Given the description of an element on the screen output the (x, y) to click on. 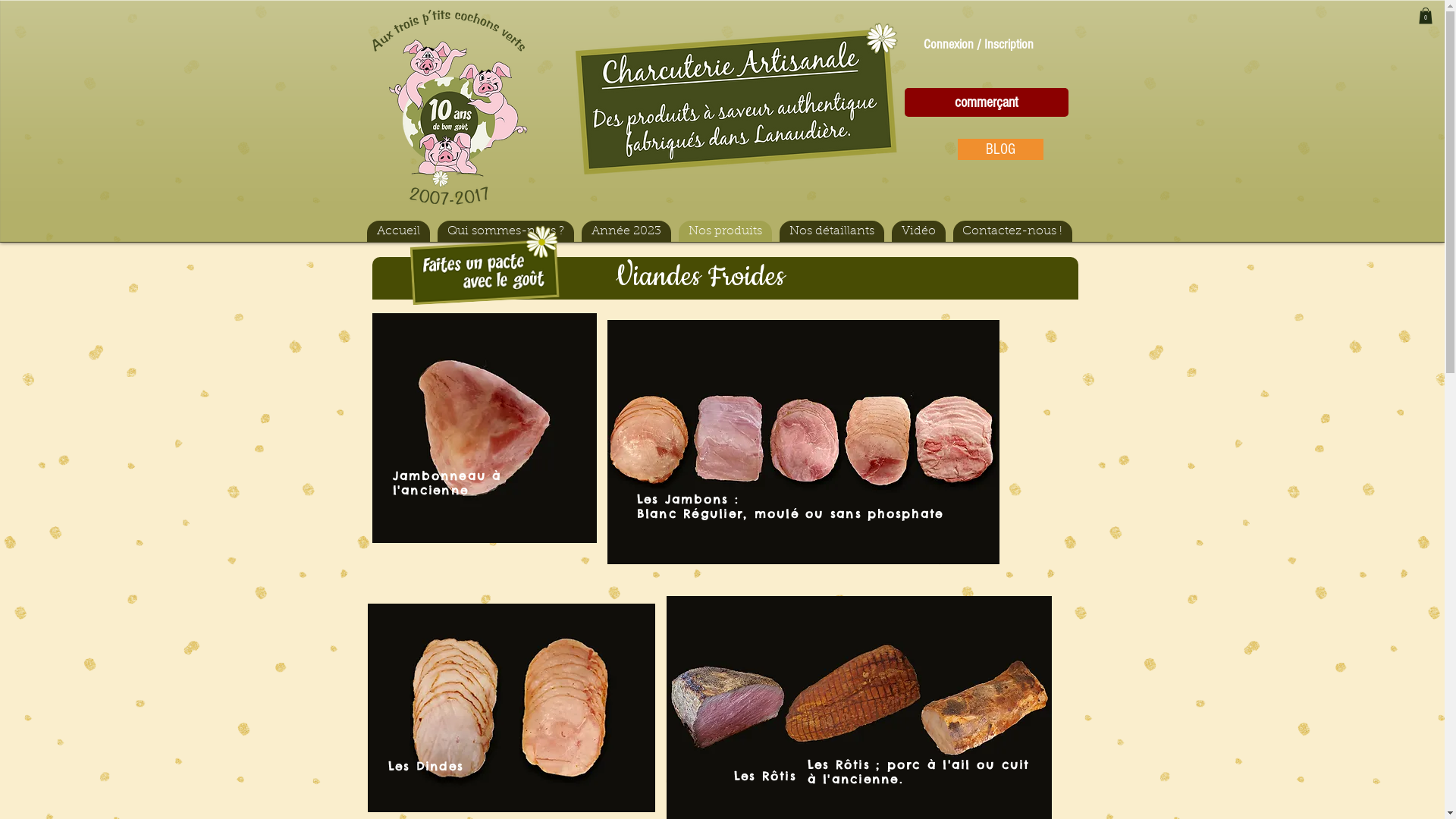
Nos produits Element type: text (724, 230)
Contactez-nous ! Element type: text (1011, 230)
Connexion / Inscription Element type: text (977, 43)
Accueil Element type: text (398, 230)
Logo_Pacte.png Element type: hover (482, 261)
Qui sommes-nous ? Element type: text (504, 230)
0 Element type: text (1424, 15)
Charcuterie Artisanale.png Element type: hover (735, 98)
BLOG Element type: text (999, 149)
